Given the description of an element on the screen output the (x, y) to click on. 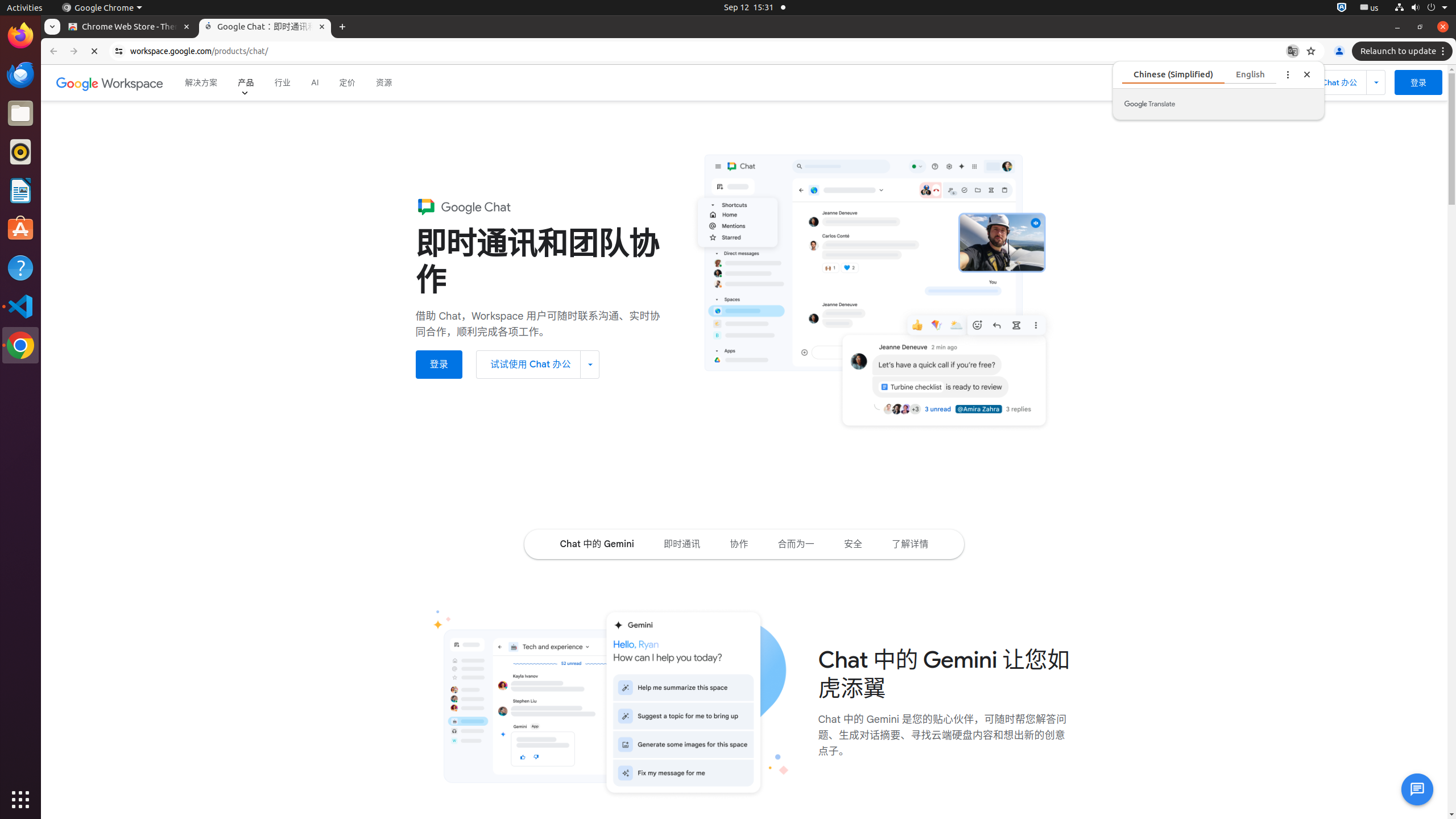
试试使用 Chat 办公 Element type: toggle-button (537, 364)
解决方案 Element type: push-button (200, 82)
English Element type: page-tab (1250, 74)
登录 Google Workspace 以使用 Chat Element type: link (1418, 81)
Chinese (Simplified) Element type: page-tab (1173, 74)
